Given the description of an element on the screen output the (x, y) to click on. 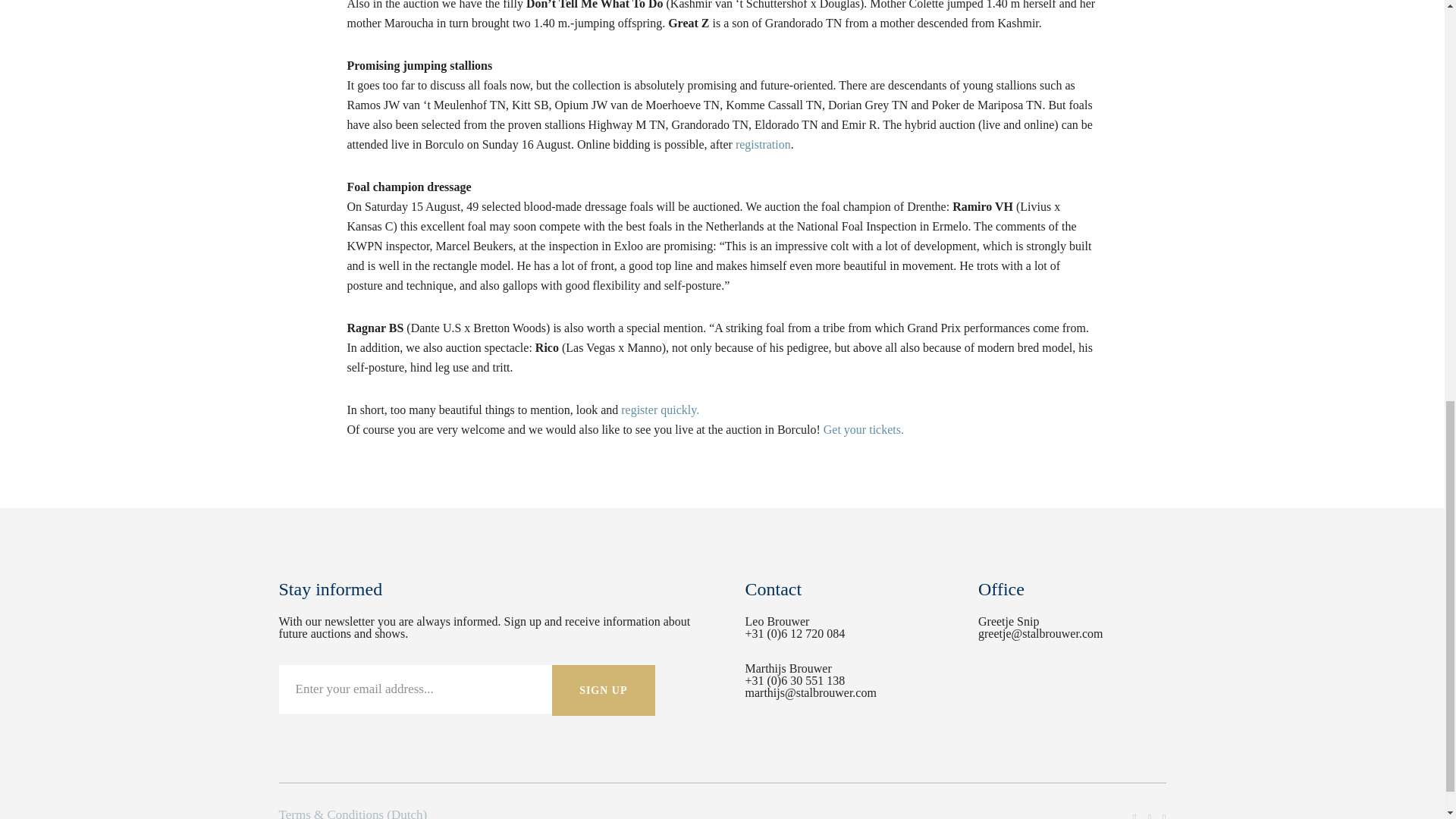
Get your tickets. (864, 429)
Sign up (603, 690)
register quickly. (659, 409)
registration (762, 144)
Sign up (603, 690)
